Given the description of an element on the screen output the (x, y) to click on. 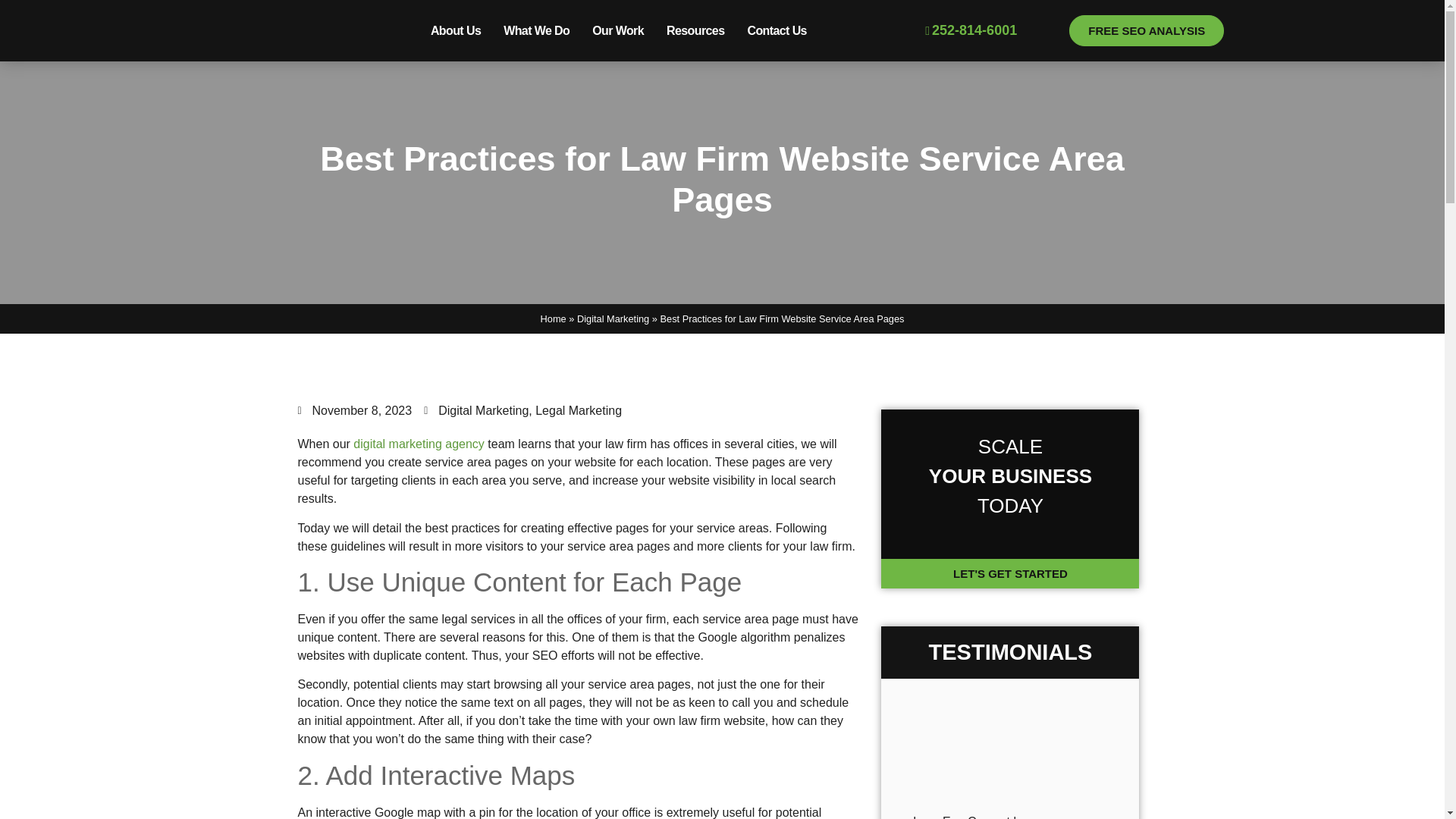
Our Work (617, 31)
Contact Us (775, 31)
About Us (455, 31)
What We Do (536, 31)
Free SEO Report (1146, 30)
Resources (695, 31)
